Given the description of an element on the screen output the (x, y) to click on. 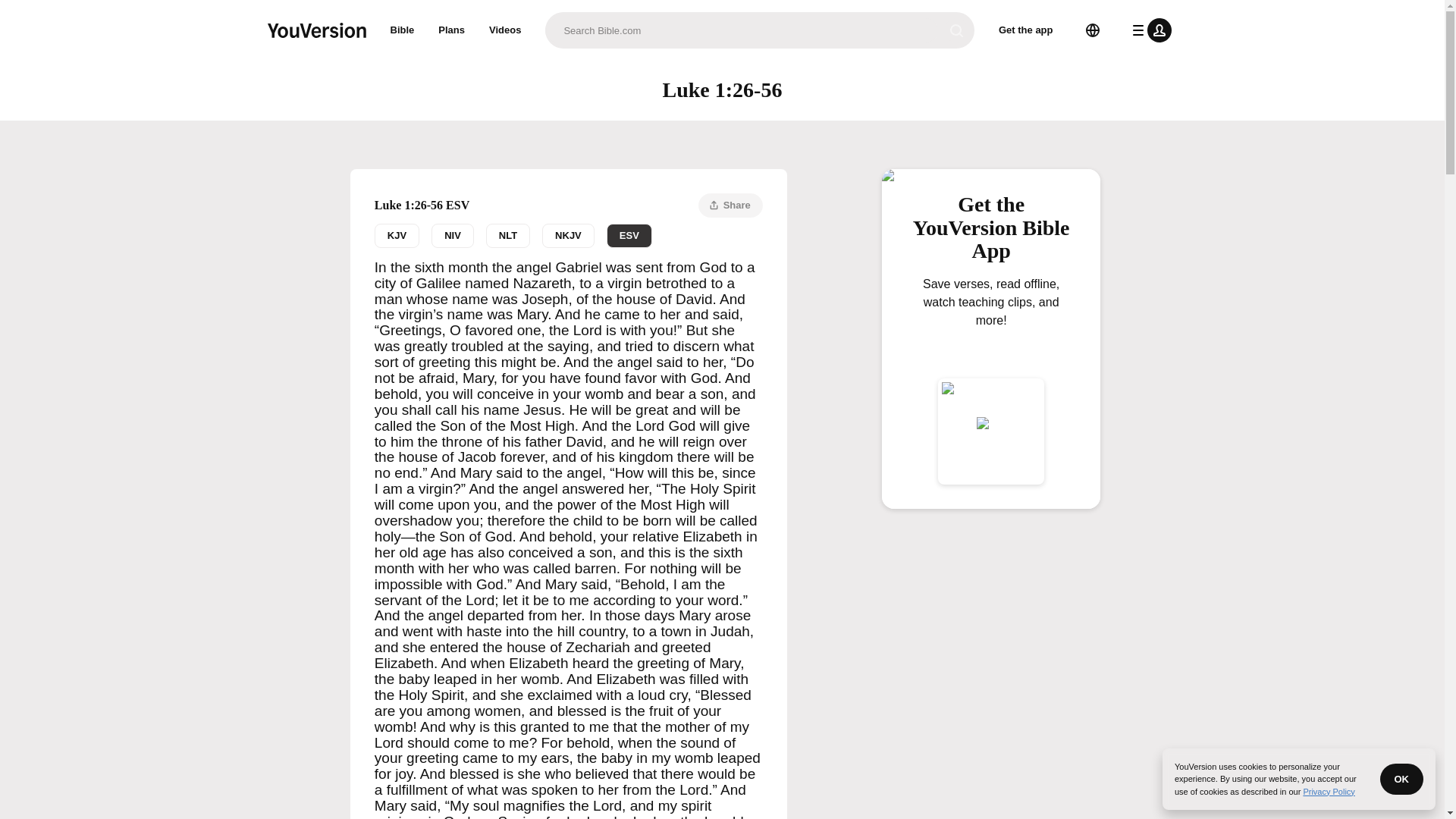
Get the app (1026, 29)
NLT (507, 235)
Videos (504, 29)
Bible (401, 29)
NKJV (567, 235)
ESV (629, 235)
Share (730, 205)
KJV (396, 235)
NIV (452, 235)
Plans (568, 235)
